Given the description of an element on the screen output the (x, y) to click on. 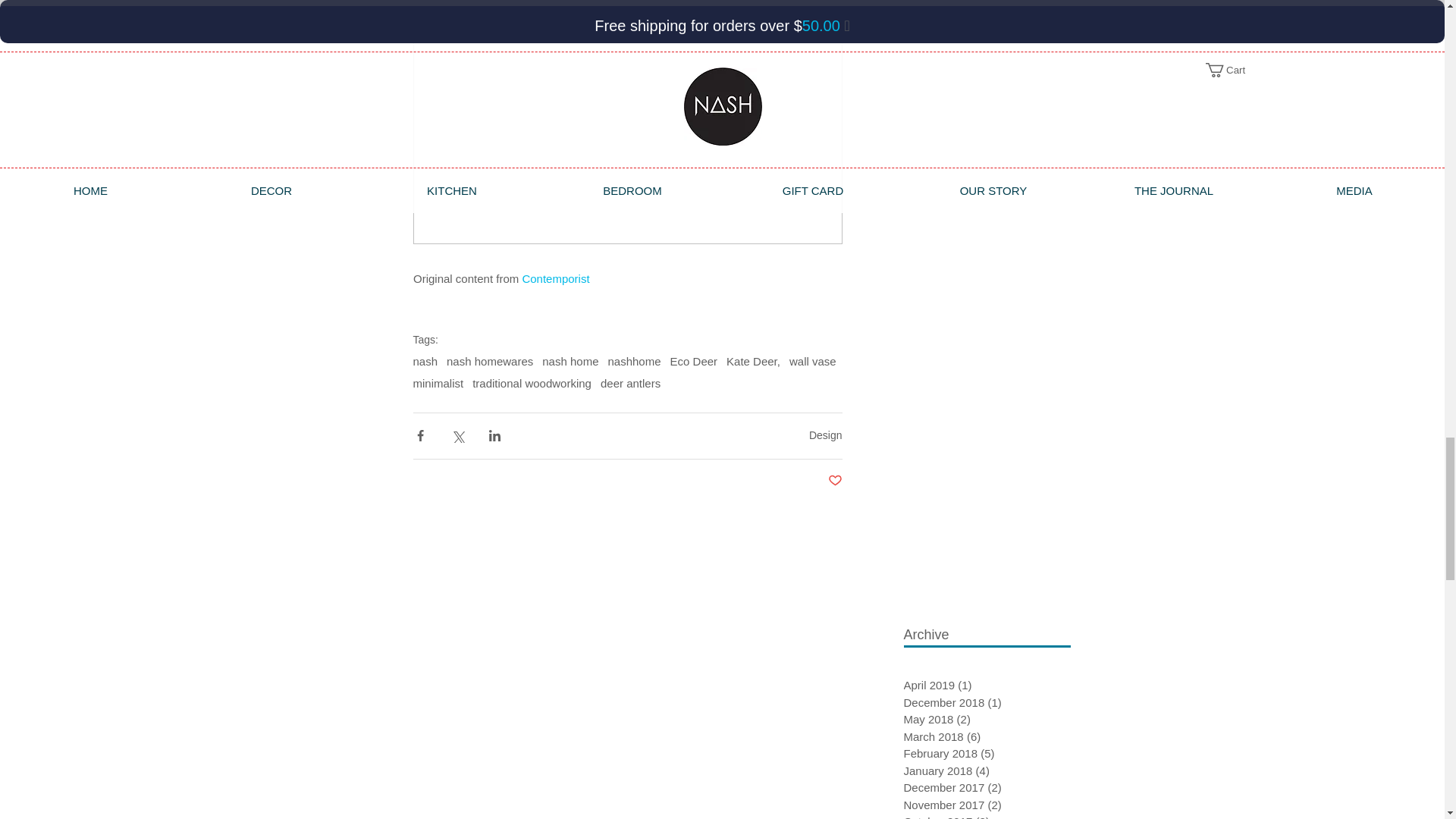
minimalist (437, 382)
nash homewares (489, 360)
deer antlers (630, 382)
nashhome (634, 360)
Eco Deer (693, 360)
Kate Deer, (753, 360)
nash (425, 360)
Post not marked as liked (835, 480)
wall vase (812, 360)
 Contemporist (553, 278)
